Given the description of an element on the screen output the (x, y) to click on. 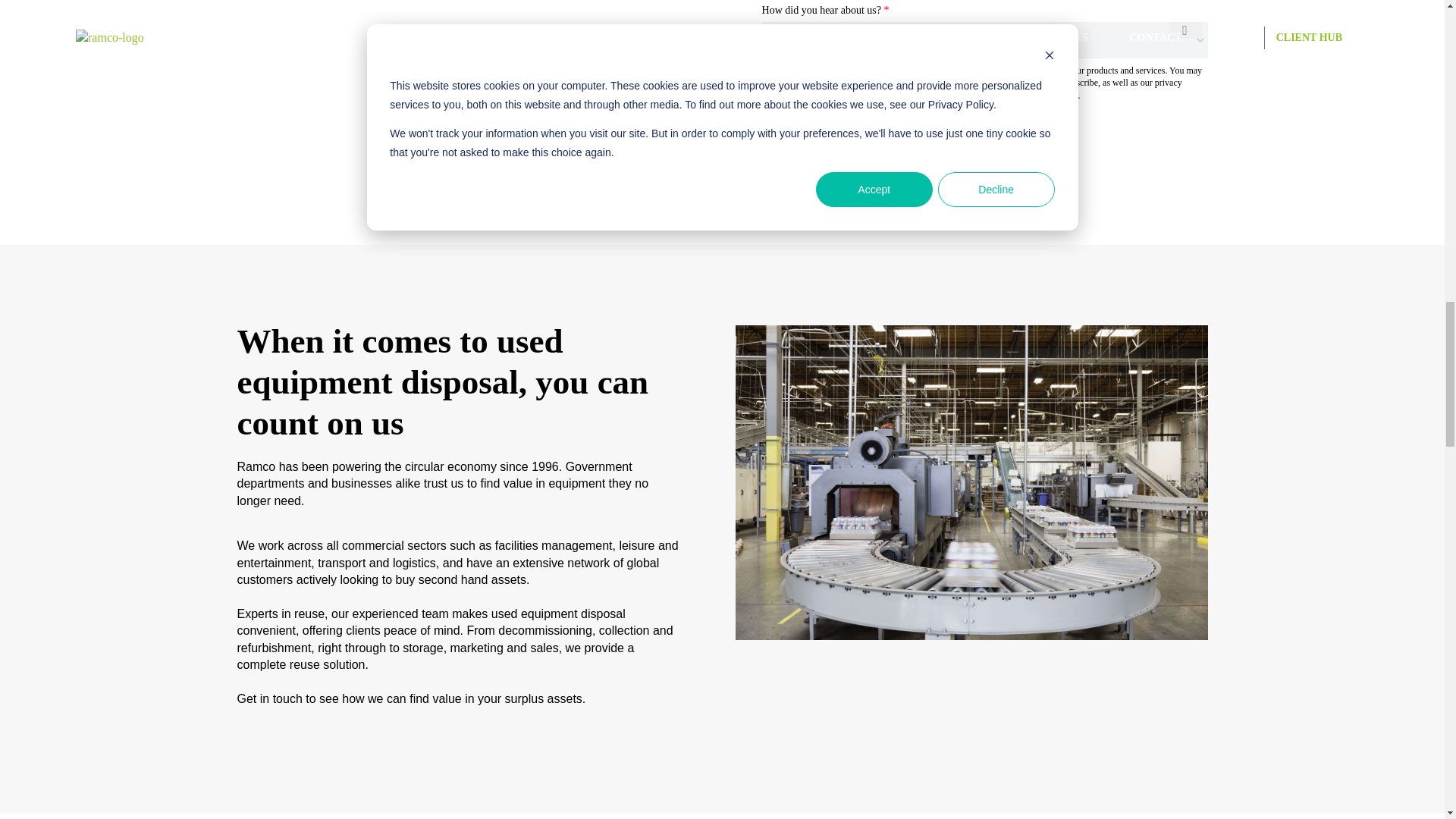
Submit (821, 143)
Submit (821, 143)
